Given the description of an element on the screen output the (x, y) to click on. 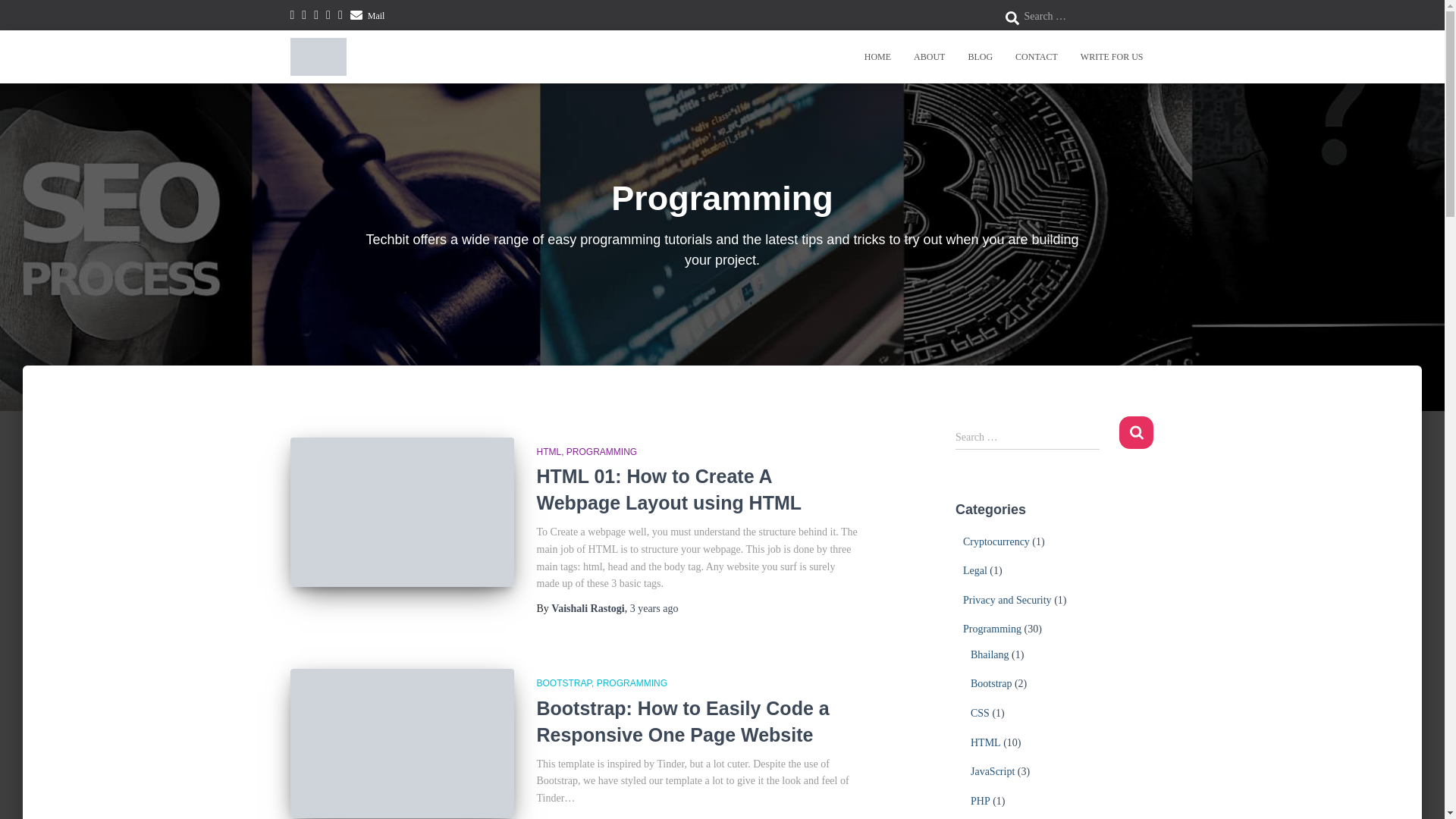
Search (1136, 432)
Vaishali Rastogi (587, 608)
Write For Us (1111, 56)
PROGRAMMING (601, 451)
BLOG (980, 56)
WRITE FOR US (1111, 56)
HTML (551, 451)
techbit.in (318, 56)
Search (1136, 432)
Bootstrap: How to Easily Code a Responsive One Page Website (683, 721)
